Given the description of an element on the screen output the (x, y) to click on. 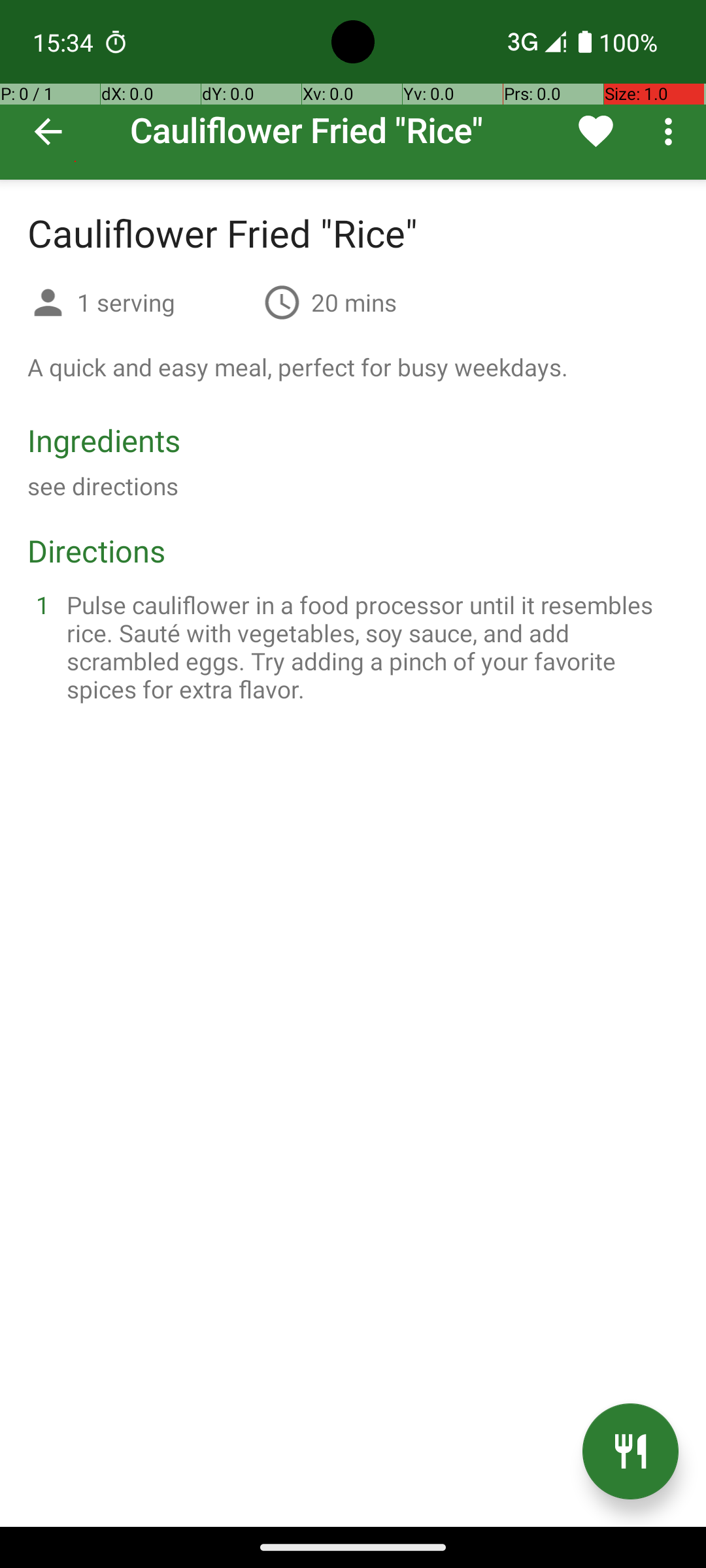
Pulse cauliflower in a food processor until it resembles rice. Sauté with vegetables, soy sauce, and add scrambled eggs. Try adding a pinch of your favorite spices for extra flavor. Element type: android.widget.TextView (368, 646)
